Given the description of an element on the screen output the (x, y) to click on. 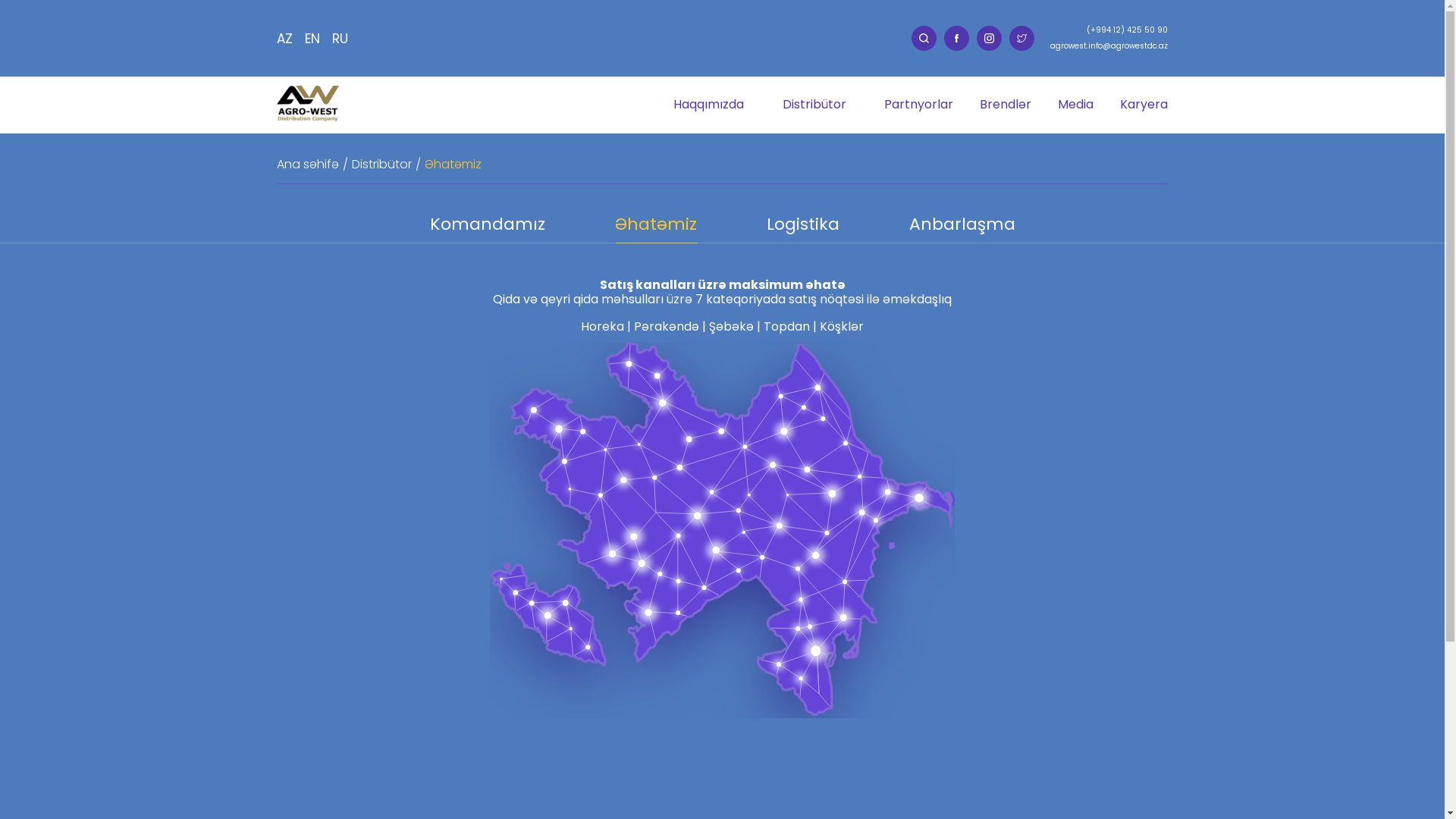
(+994 12) 425 50 90 Element type: text (1126, 30)
Partnyorlar Element type: text (918, 104)
Logistika Element type: text (801, 228)
EN Element type: text (312, 38)
AZ Element type: text (284, 38)
Media Element type: text (1075, 104)
Karyera Element type: text (1143, 104)
agrowest.info@agrowestdc.az Element type: text (1108, 46)
RU Element type: text (340, 38)
